Given the description of an element on the screen output the (x, y) to click on. 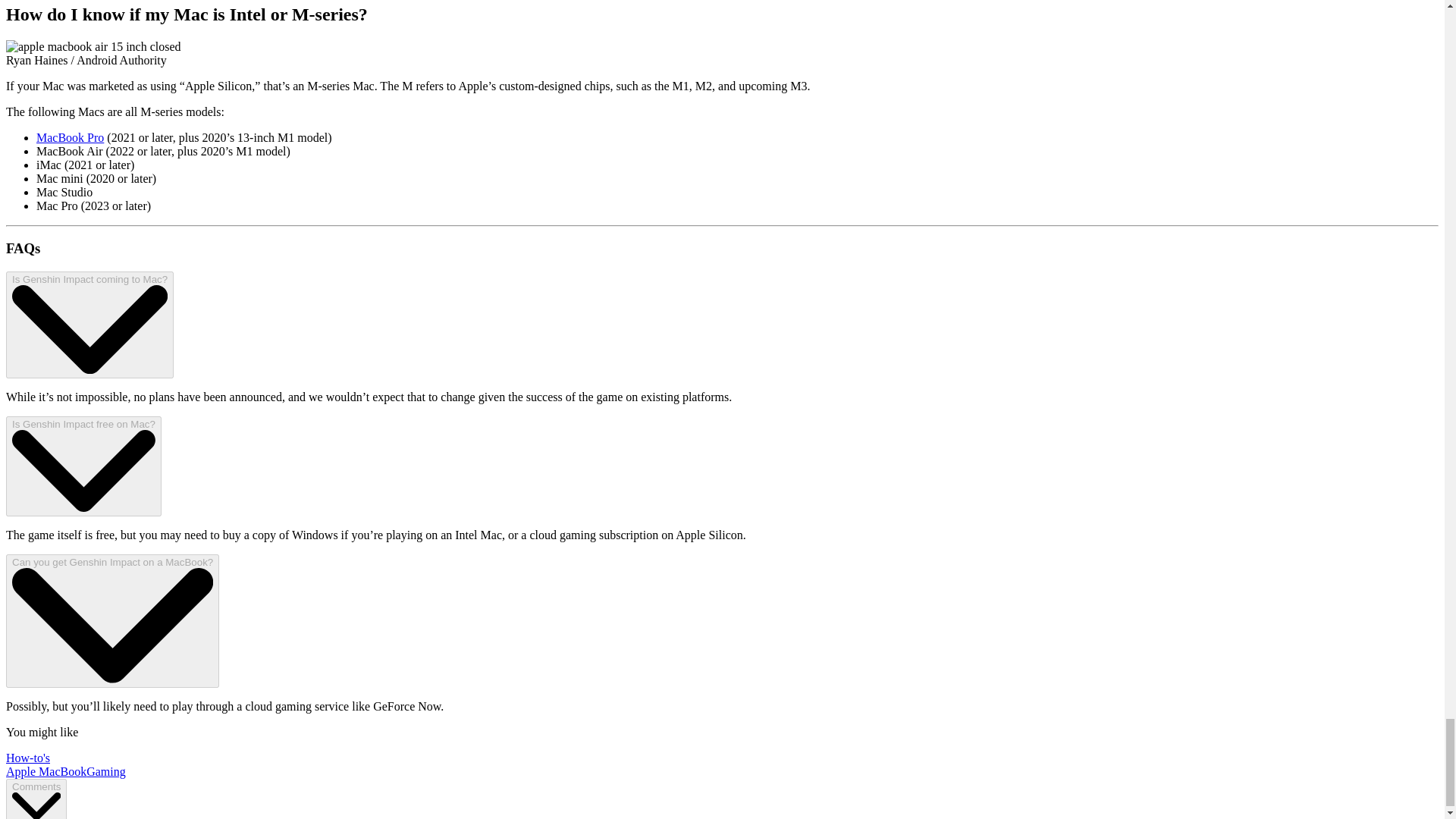
How-to's (27, 757)
Is Genshin Impact coming to Mac? (89, 324)
Apple MacBook (45, 771)
apple macbook air 15 inch closed (92, 47)
Gaming (105, 771)
Can you get Genshin Impact on a MacBook? (112, 620)
MacBook Pro (69, 137)
Is Genshin Impact free on Mac? (83, 466)
